Given the description of an element on the screen output the (x, y) to click on. 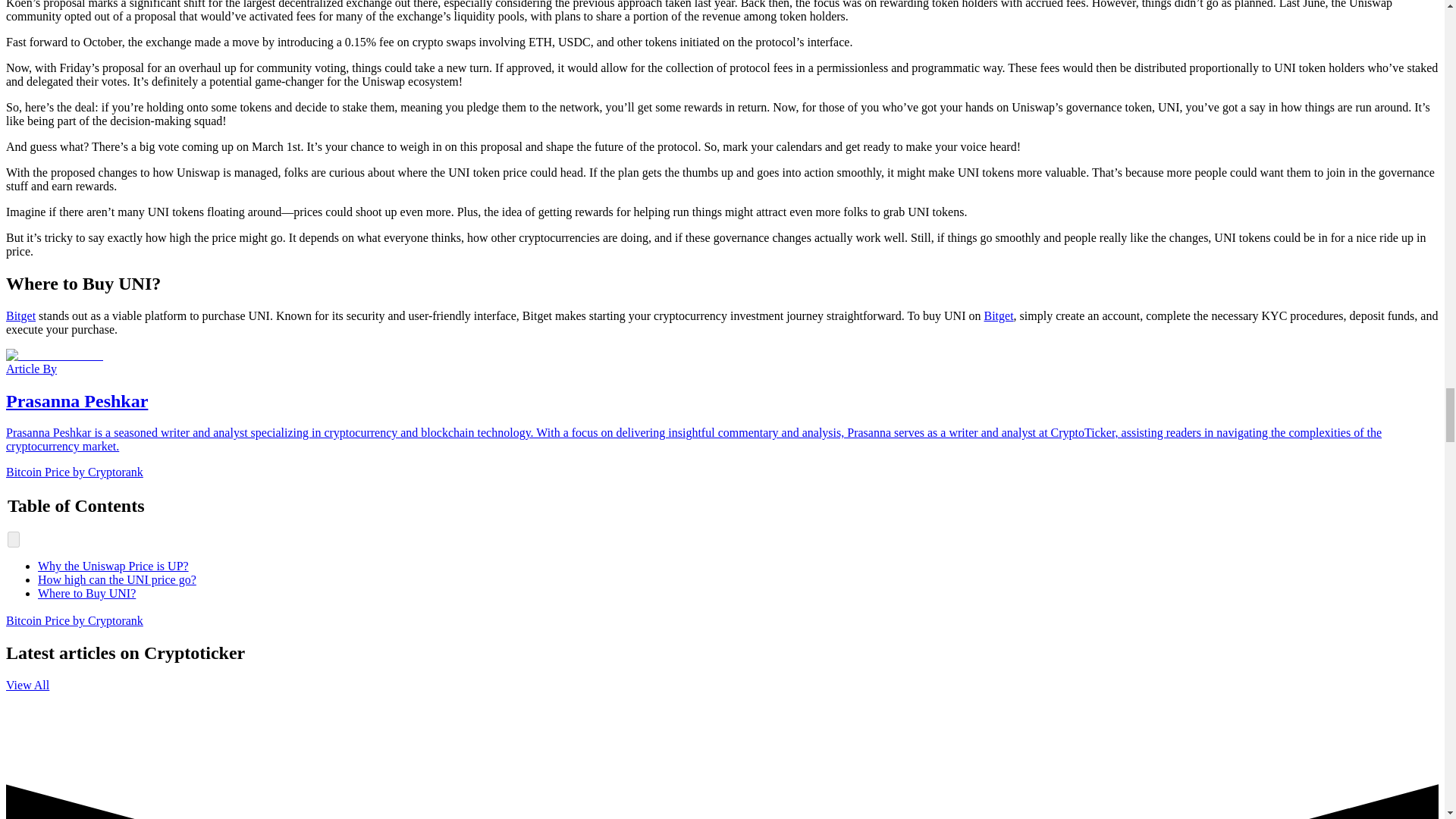
Bitget (998, 315)
How high can the UNI price go? (116, 579)
Where to Buy UNI? (86, 593)
Why the Uniswap Price is UP? (113, 565)
Bitcoin Price by Cryptorank (73, 472)
Bitcoin Price by Cryptorank (73, 620)
Bitget (19, 315)
View All (27, 684)
